Given the description of an element on the screen output the (x, y) to click on. 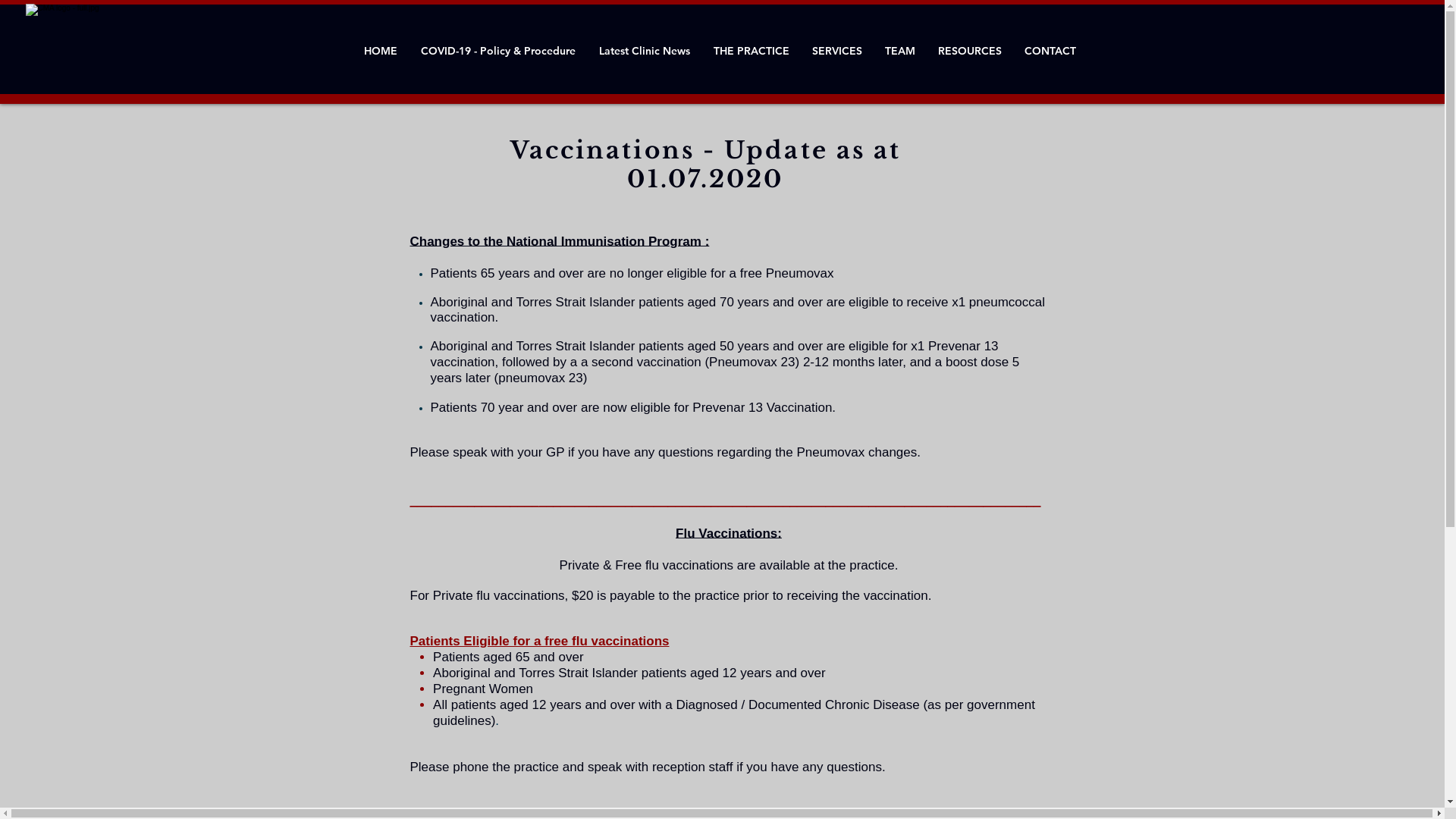
Latest Clinic News Element type: text (643, 50)
TEAM Element type: text (899, 50)
THE PRACTICE Element type: text (751, 50)
HOME Element type: text (382, 50)
CONTACT Element type: text (1048, 50)
SERVICES Element type: text (836, 50)
COVID-19 - Policy & Procedure Element type: text (498, 50)
RESOURCES Element type: text (969, 50)
